Given the description of an element on the screen output the (x, y) to click on. 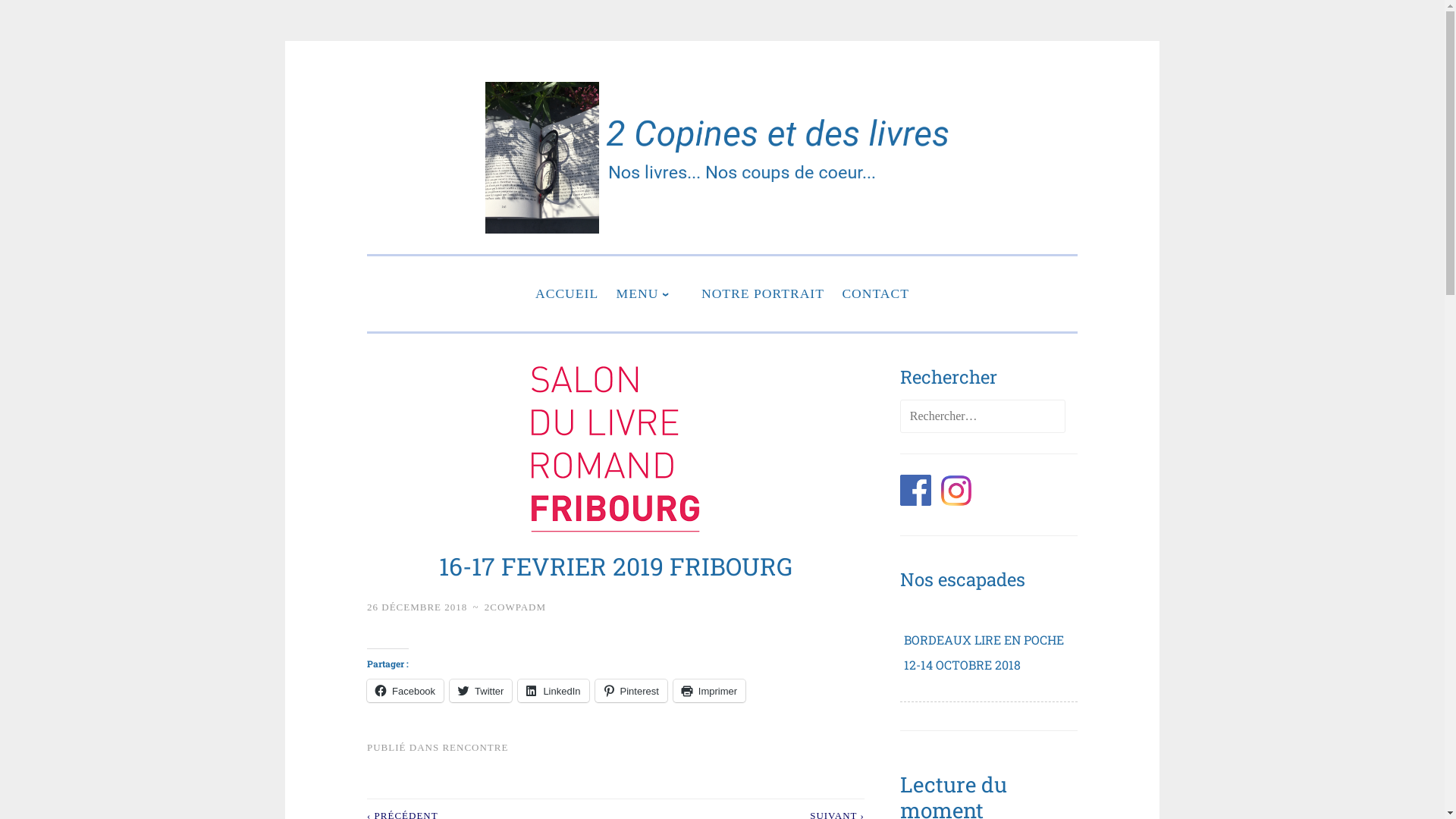
RENCONTRE Element type: text (475, 747)
CONTACT Element type: text (875, 293)
Rechercher Element type: text (57, 17)
LinkedIn Element type: text (552, 690)
Pinterest Element type: text (631, 690)
BORDEAUX LIRE EN POCHE 12-14 OCTOBRE 2018 Element type: text (983, 651)
MENU Element type: text (649, 293)
2 copines et des livres Element type: text (811, 253)
ACCUEIL Element type: text (566, 293)
Imprimer Element type: text (709, 690)
Twitter Element type: text (480, 690)
NOTRE PORTRAIT Element type: text (762, 293)
2COWPADM Element type: text (515, 606)
Facebook Element type: text (405, 690)
